Given the description of an element on the screen output the (x, y) to click on. 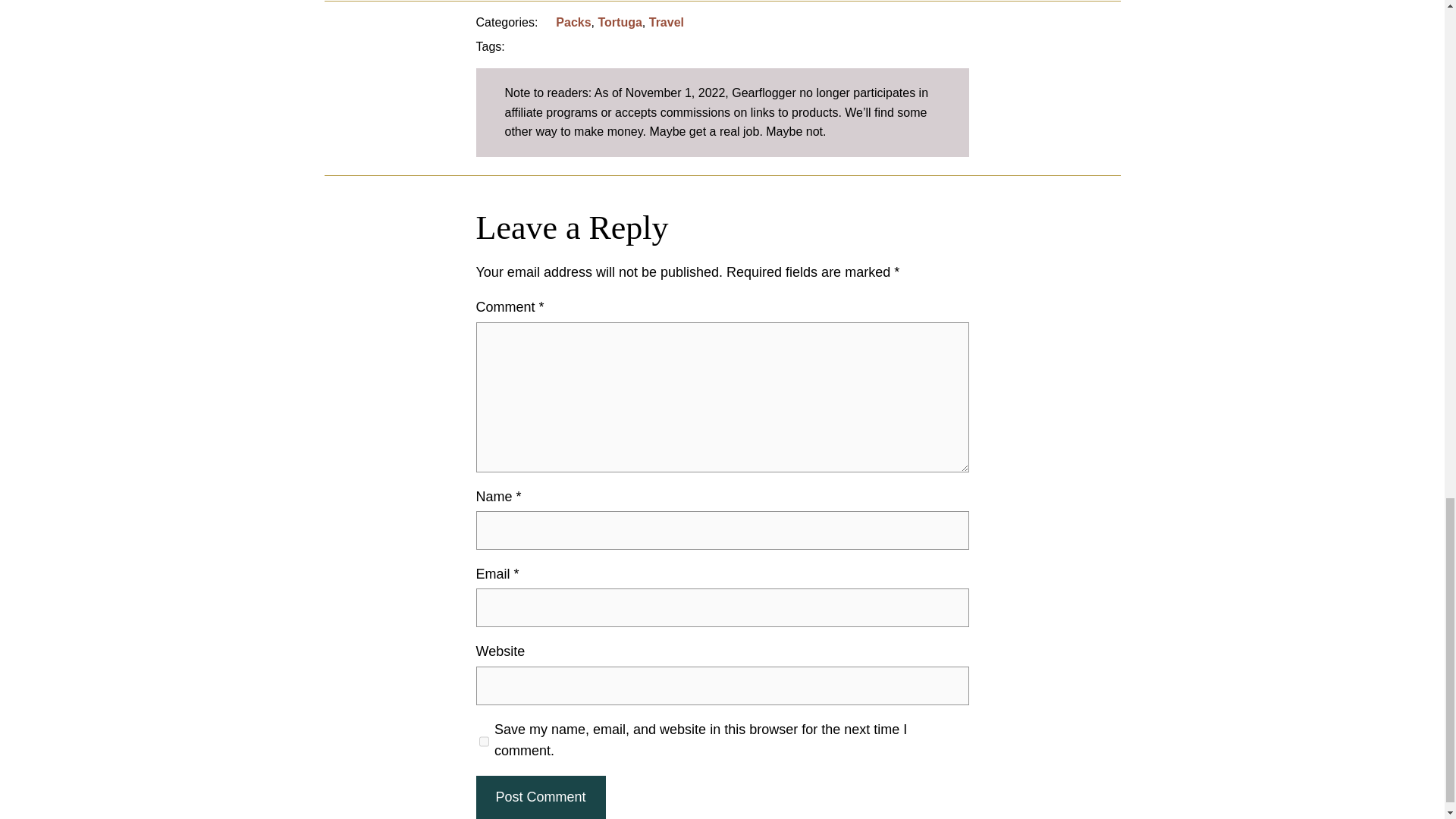
Packs (573, 21)
Travel (666, 21)
Tortuga (619, 21)
